Given the description of an element on the screen output the (x, y) to click on. 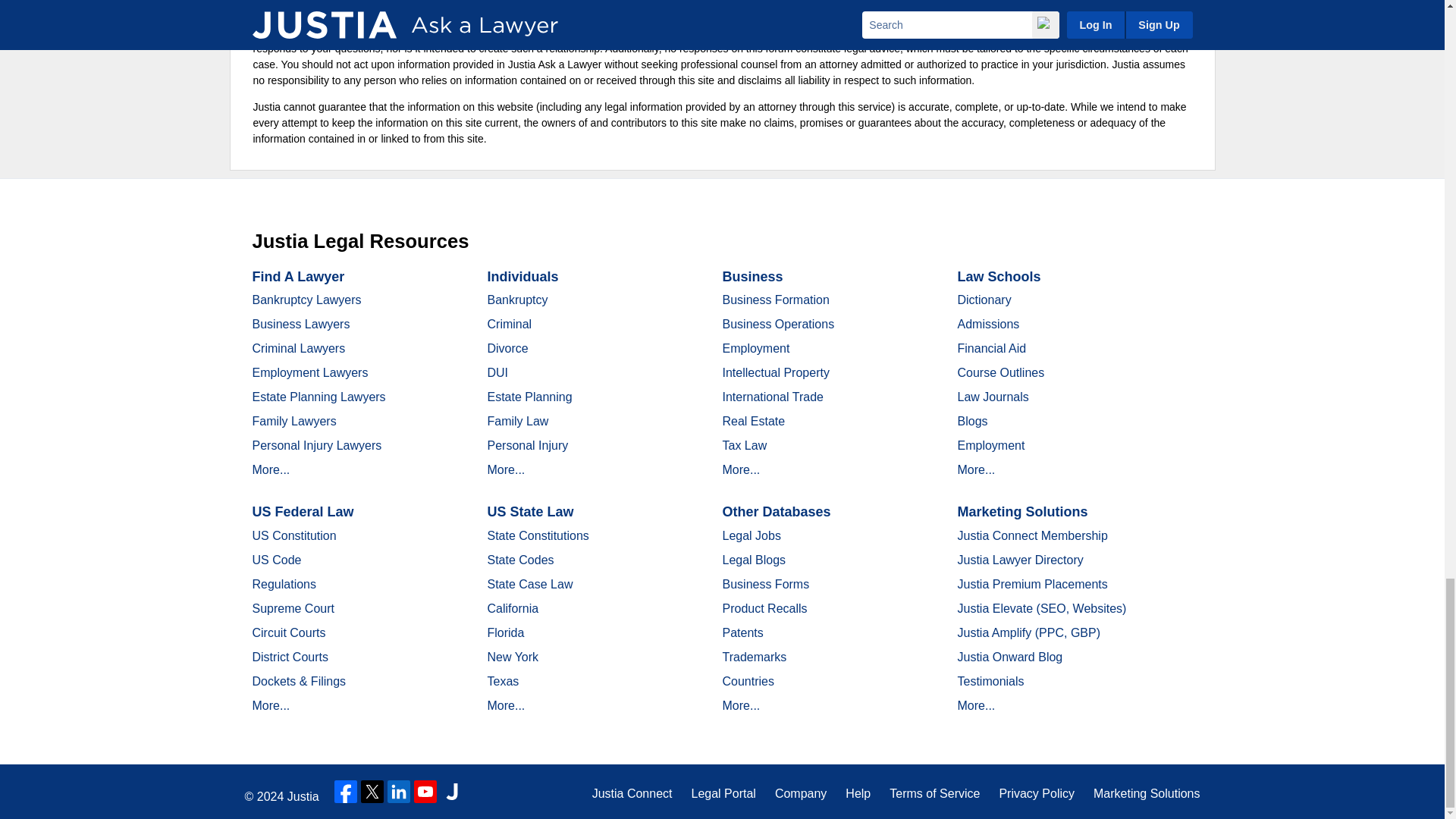
Facebook (345, 791)
